Given the description of an element on the screen output the (x, y) to click on. 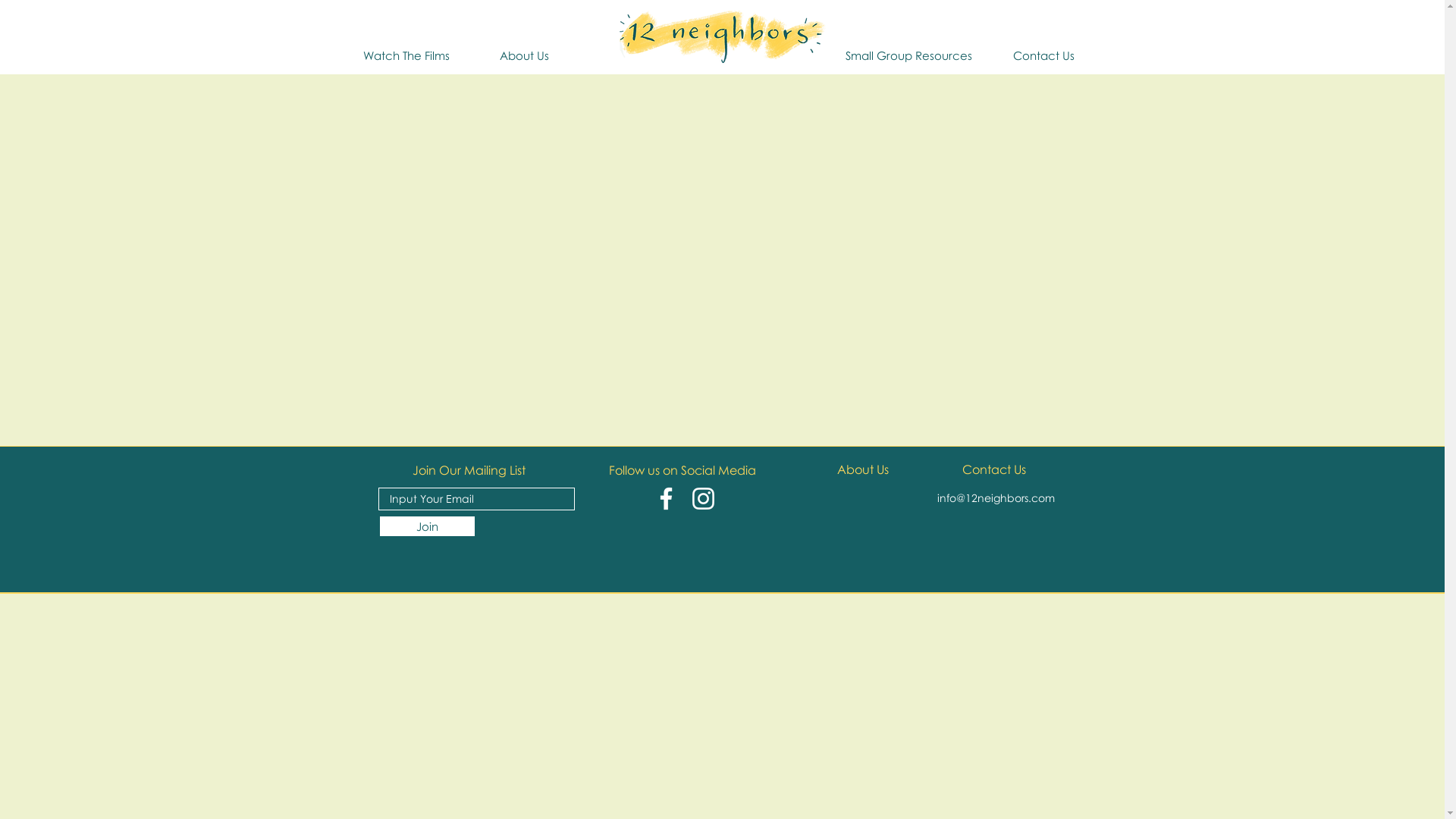
Watch The Films Element type: text (405, 55)
Small Group Resources Element type: text (908, 55)
info@12neighbors.com Element type: text (995, 497)
Contact Us Element type: text (1043, 55)
About Us Element type: text (524, 55)
About Us Element type: text (862, 468)
Join Element type: text (426, 525)
Contact Us Element type: text (993, 468)
